Given the description of an element on the screen output the (x, y) to click on. 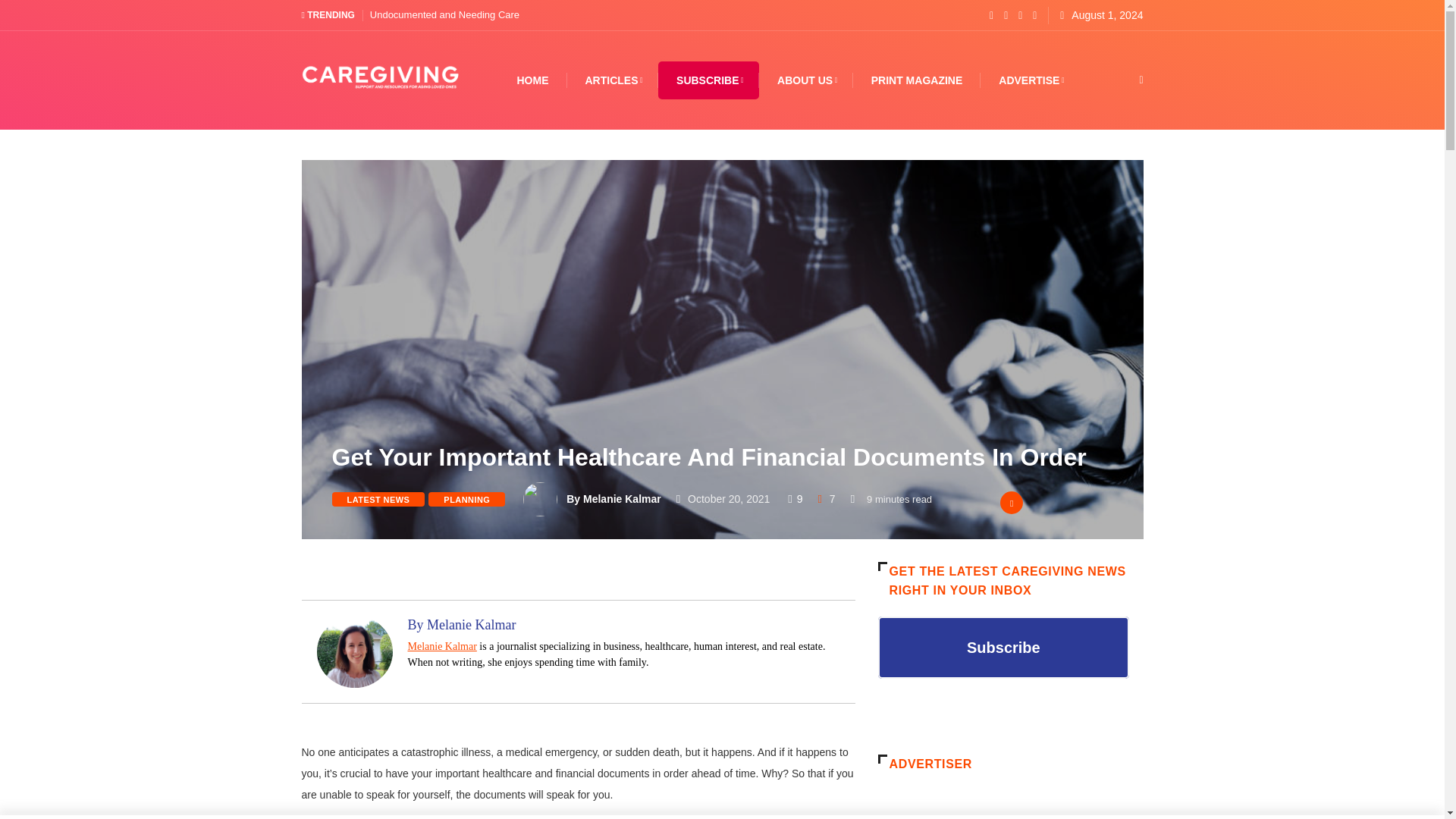
LATEST NEWS (378, 498)
By Melanie Kalmar (613, 499)
PLANNING (466, 498)
popup modal for search (1117, 80)
Undocumented and Needing Care (444, 14)
PRINT MAGAZINE (916, 80)
